Given the description of an element on the screen output the (x, y) to click on. 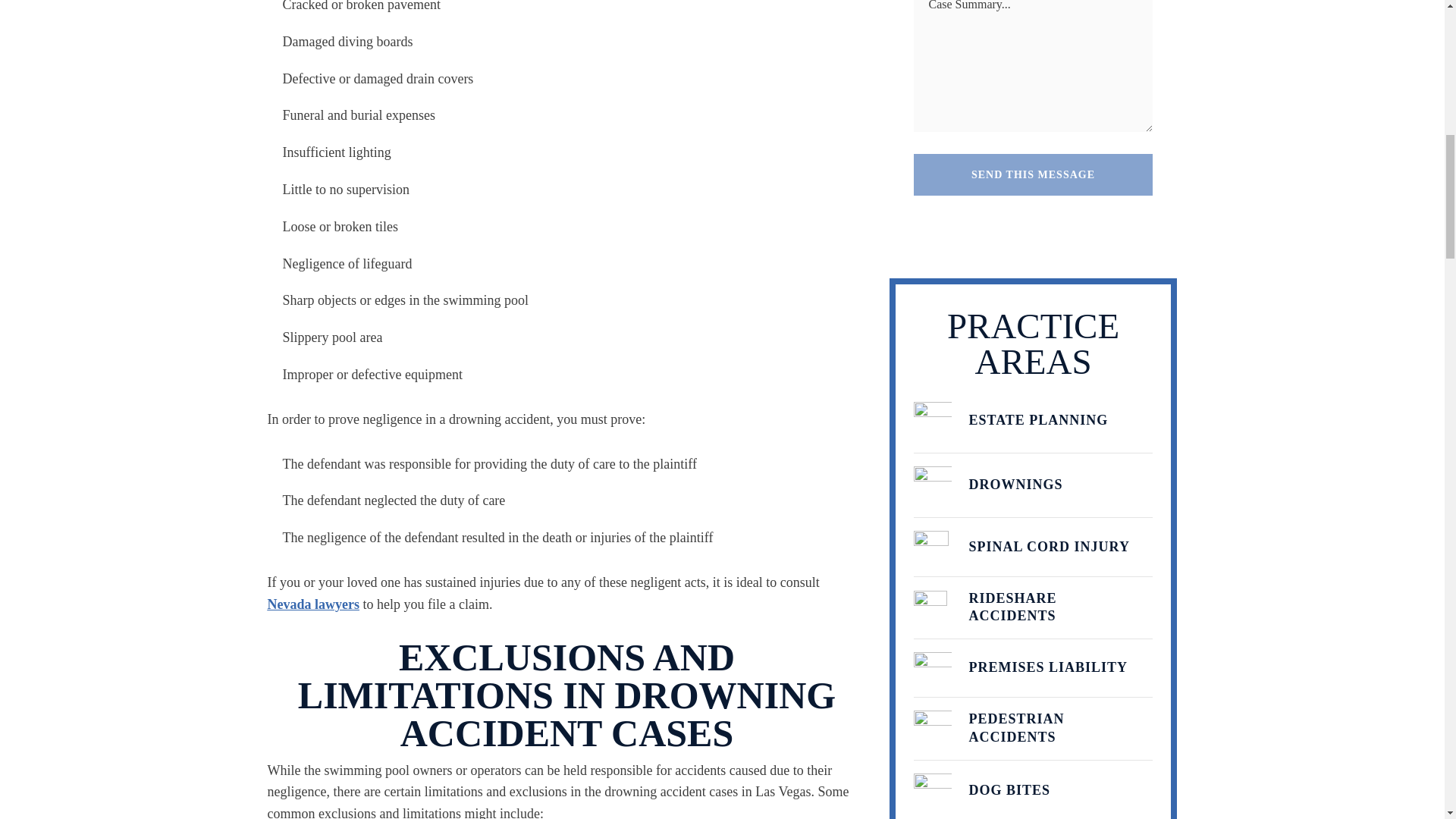
SEND THIS MESSAGE (1032, 174)
Nevada lawyers (312, 604)
SPINAL CORD INJURY (1032, 547)
PREMISES LIABILITY (1032, 668)
SEND THIS MESSAGE (1032, 174)
PEDESTRIAN ACCIDENTS (1032, 728)
RIDESHARE ACCIDENTS (1032, 608)
DROWNINGS (1032, 485)
ESTATE PLANNING (1032, 421)
DOG BITES (1032, 789)
